Given the description of an element on the screen output the (x, y) to click on. 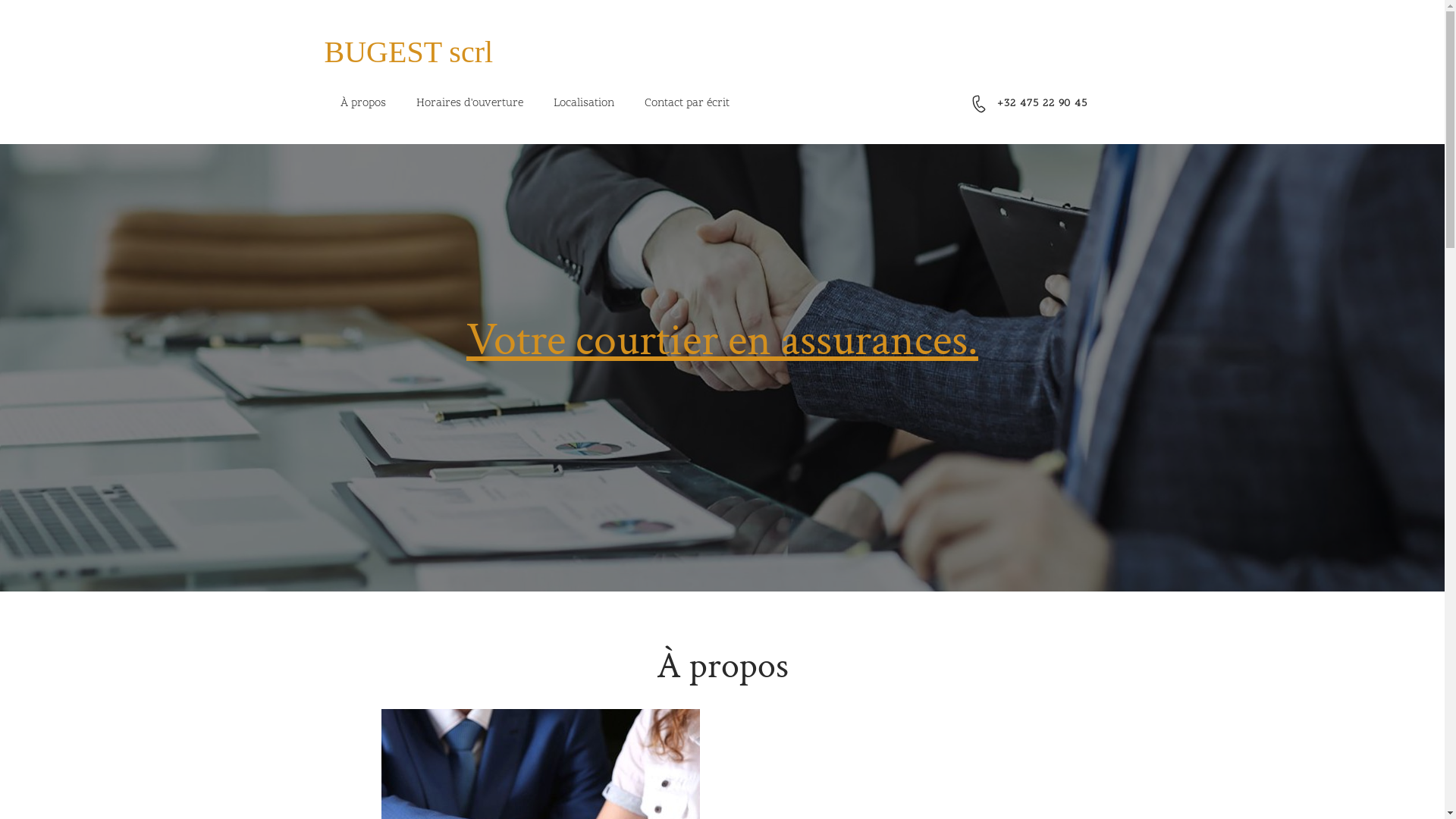
Horaires d'ouverture Element type: text (468, 103)
+32 475 22 90 45 Element type: text (1041, 103)
Localisation Element type: text (583, 103)
